Given the description of an element on the screen output the (x, y) to click on. 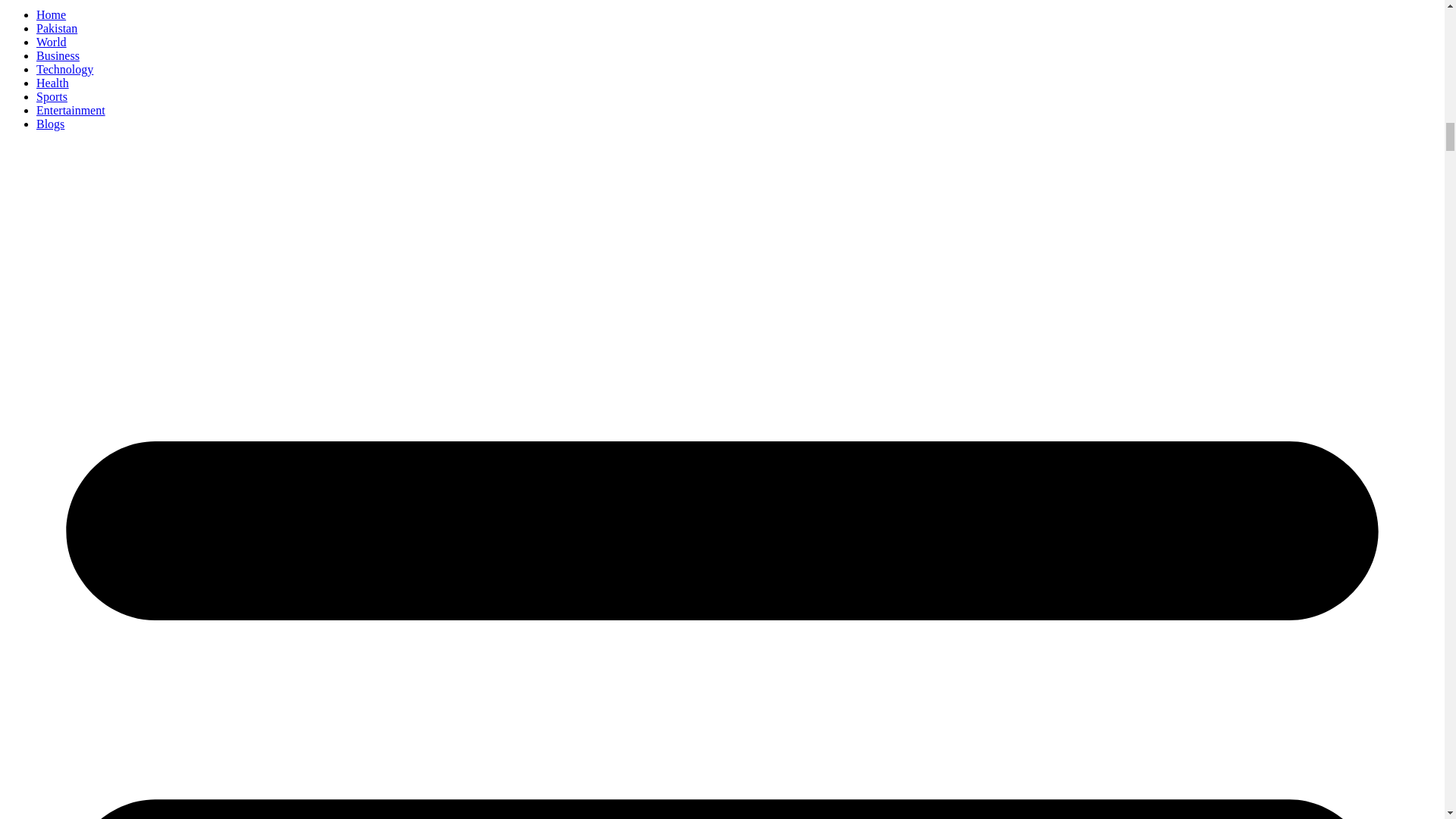
Health (52, 82)
Pakistan (56, 28)
Business (58, 55)
Sports (51, 96)
Entertainment (70, 110)
Blogs (50, 123)
Technology (64, 69)
Home (50, 14)
World (51, 42)
